Given the description of an element on the screen output the (x, y) to click on. 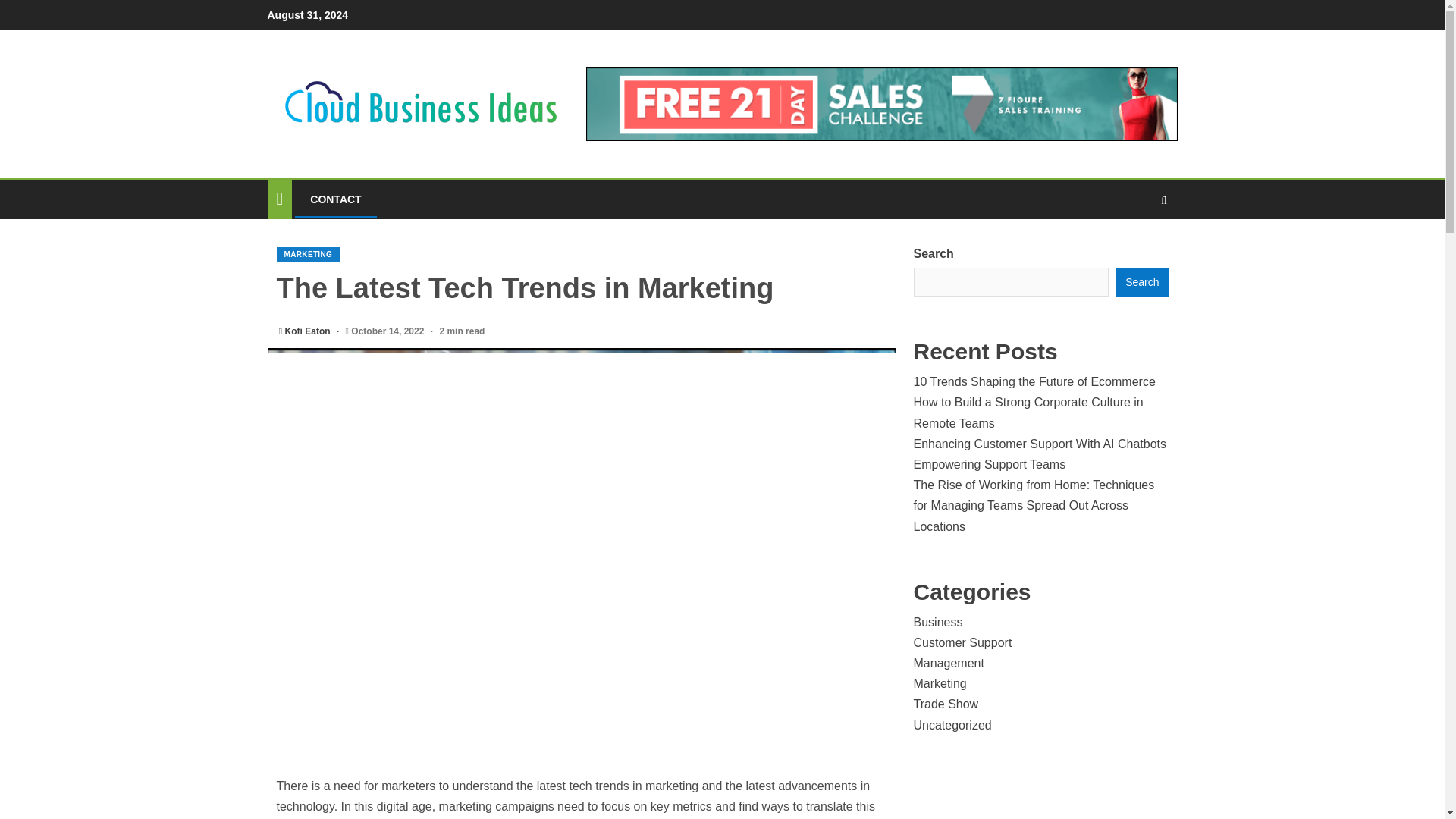
Search (1133, 245)
Marketing (939, 683)
Kofi Eaton (309, 330)
Empowering Support Teams (988, 463)
10 Trends Shaping the Future of Ecommerce (1033, 381)
Search (1141, 281)
Customer Support (961, 642)
How to Build a Strong Corporate Culture in Remote Teams (1027, 412)
CONTACT (335, 199)
Management (948, 662)
